Given the description of an element on the screen output the (x, y) to click on. 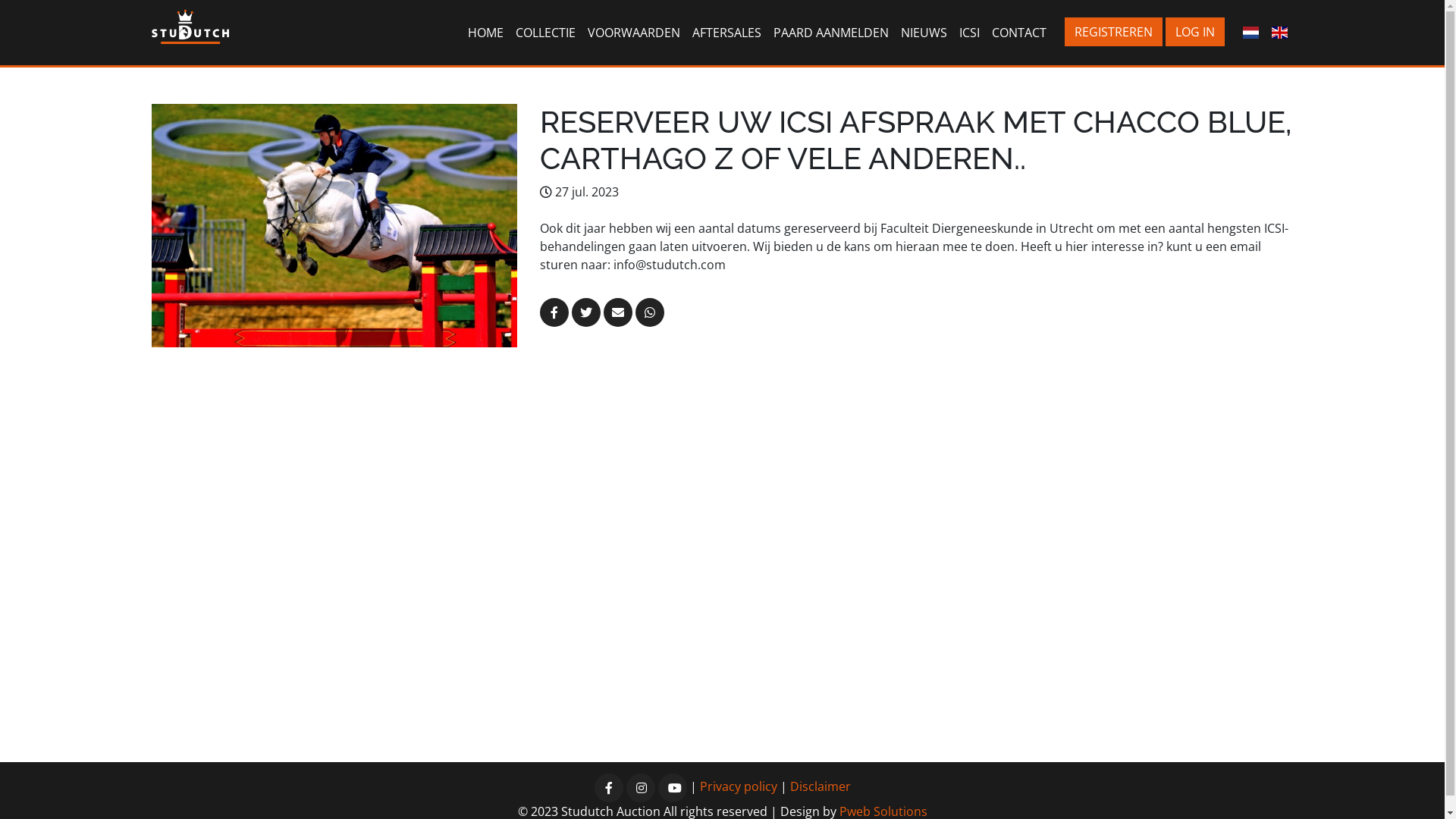
AFTERSALES Element type: text (726, 32)
CONTACT Element type: text (1018, 32)
HOME Element type: text (485, 32)
VOORWAARDEN Element type: text (633, 32)
Privacy policy Element type: text (737, 786)
ICSI Element type: text (969, 32)
Disclaimer Element type: text (820, 786)
REGISTREREN Element type: text (1113, 31)
NIEUWS Element type: text (923, 32)
COLLECTIE Element type: text (545, 32)
PAARD AANMELDEN Element type: text (830, 32)
LOG IN Element type: text (1194, 31)
